Given the description of an element on the screen output the (x, y) to click on. 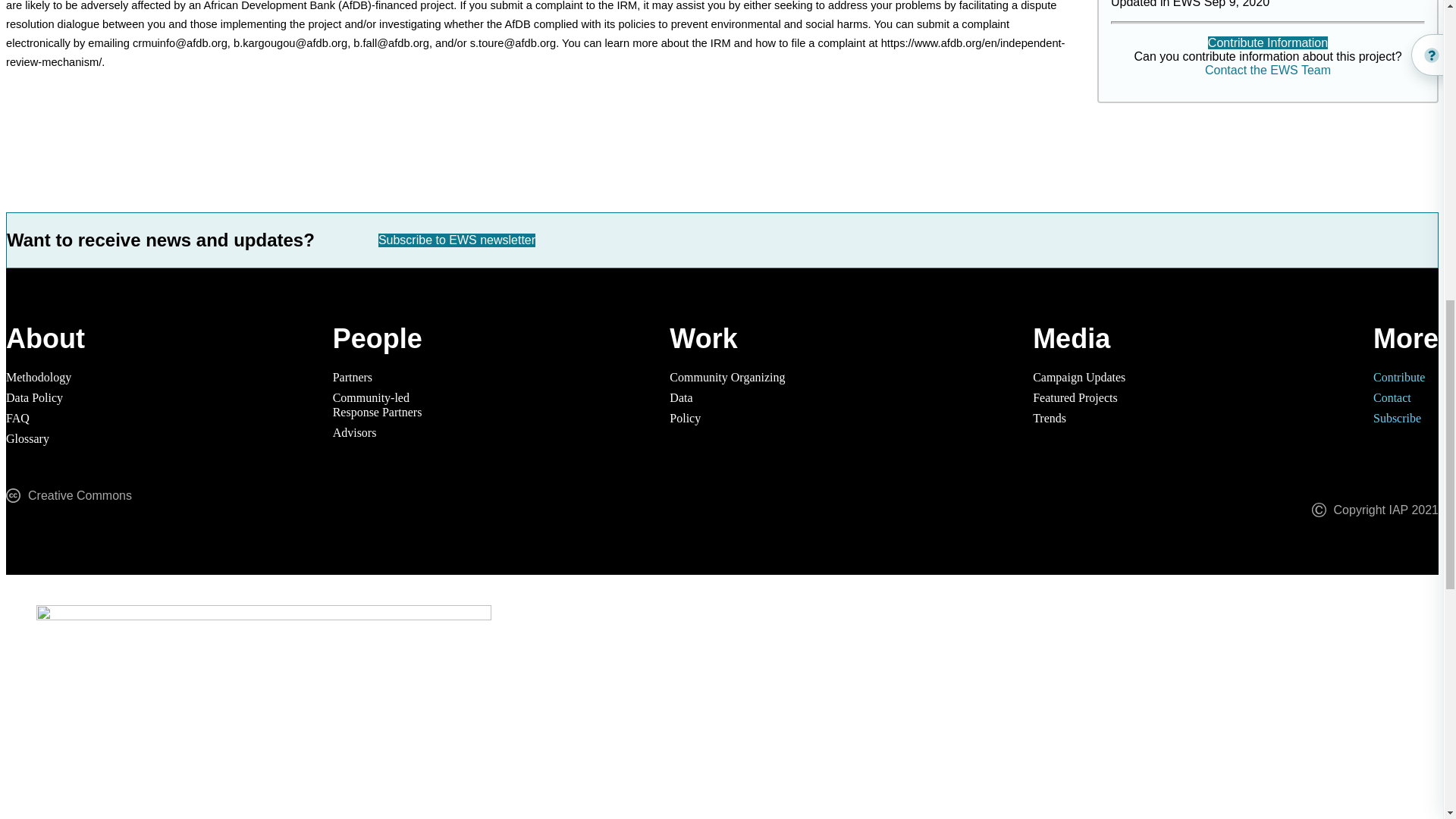
Contact the EWS Team (1267, 69)
Community Organizing (377, 404)
Contribute Information (726, 377)
Policy (1267, 42)
Methodology (684, 418)
Trends (38, 377)
Data (1048, 418)
Partners (681, 397)
Campaign Updates (352, 377)
Contact (1078, 377)
Contribute (1391, 397)
Glossary (1399, 377)
Subscribe (27, 438)
Subscribe to EWS newsletter (1397, 418)
